Given the description of an element on the screen output the (x, y) to click on. 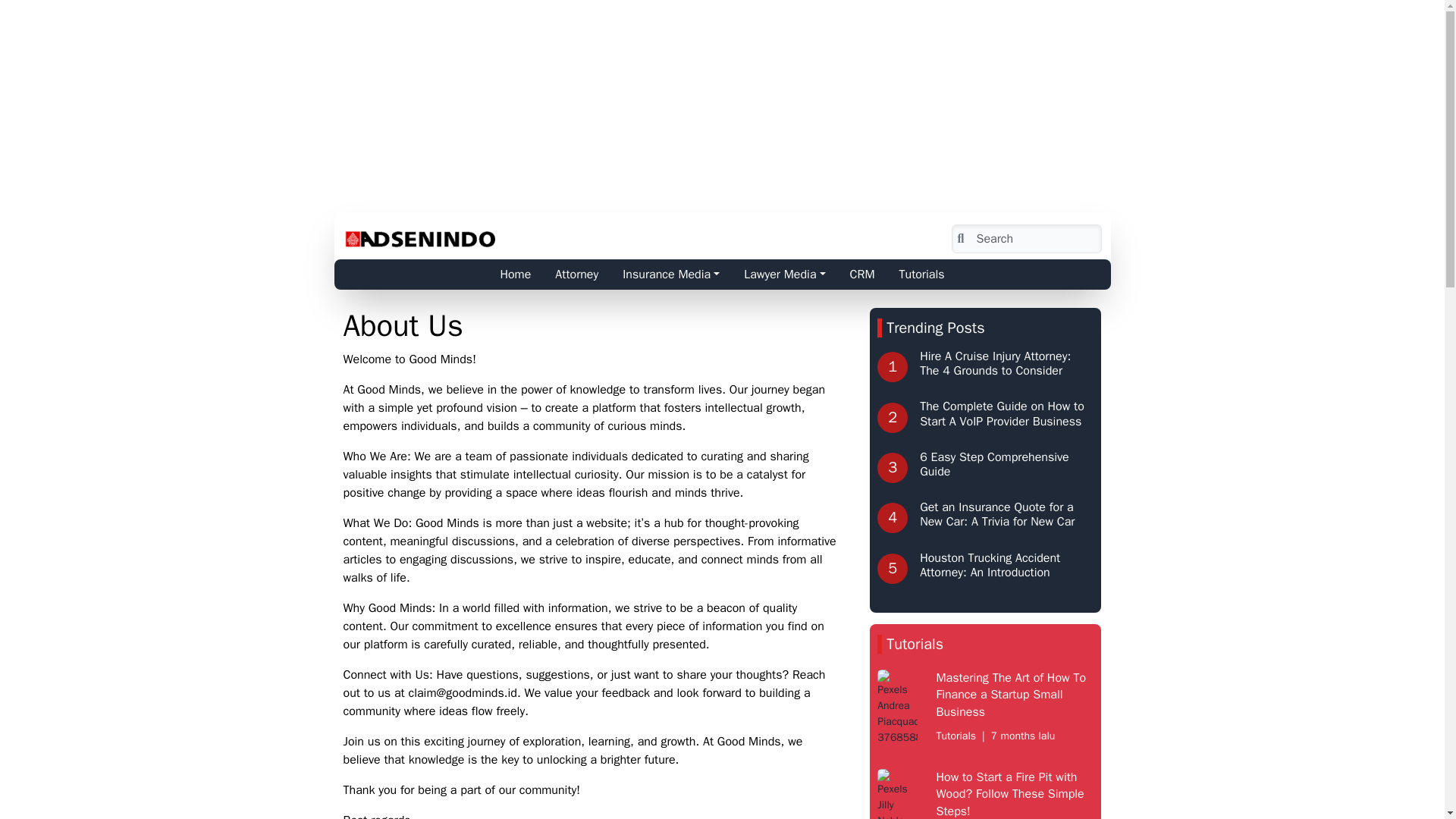
Hire A Cruise Injury Attorney: The 4 Grounds to Consider (995, 363)
CRM (862, 274)
Hire A Cruise Injury Attorney: The 4 Grounds to Consider (995, 363)
Houston Trucking Accident Attorney: An Introduction (989, 564)
The Complete Guide on How to Start A VoIP Provider Business (1002, 413)
Lawyer Media (784, 274)
Attorney (576, 274)
